Given the description of an element on the screen output the (x, y) to click on. 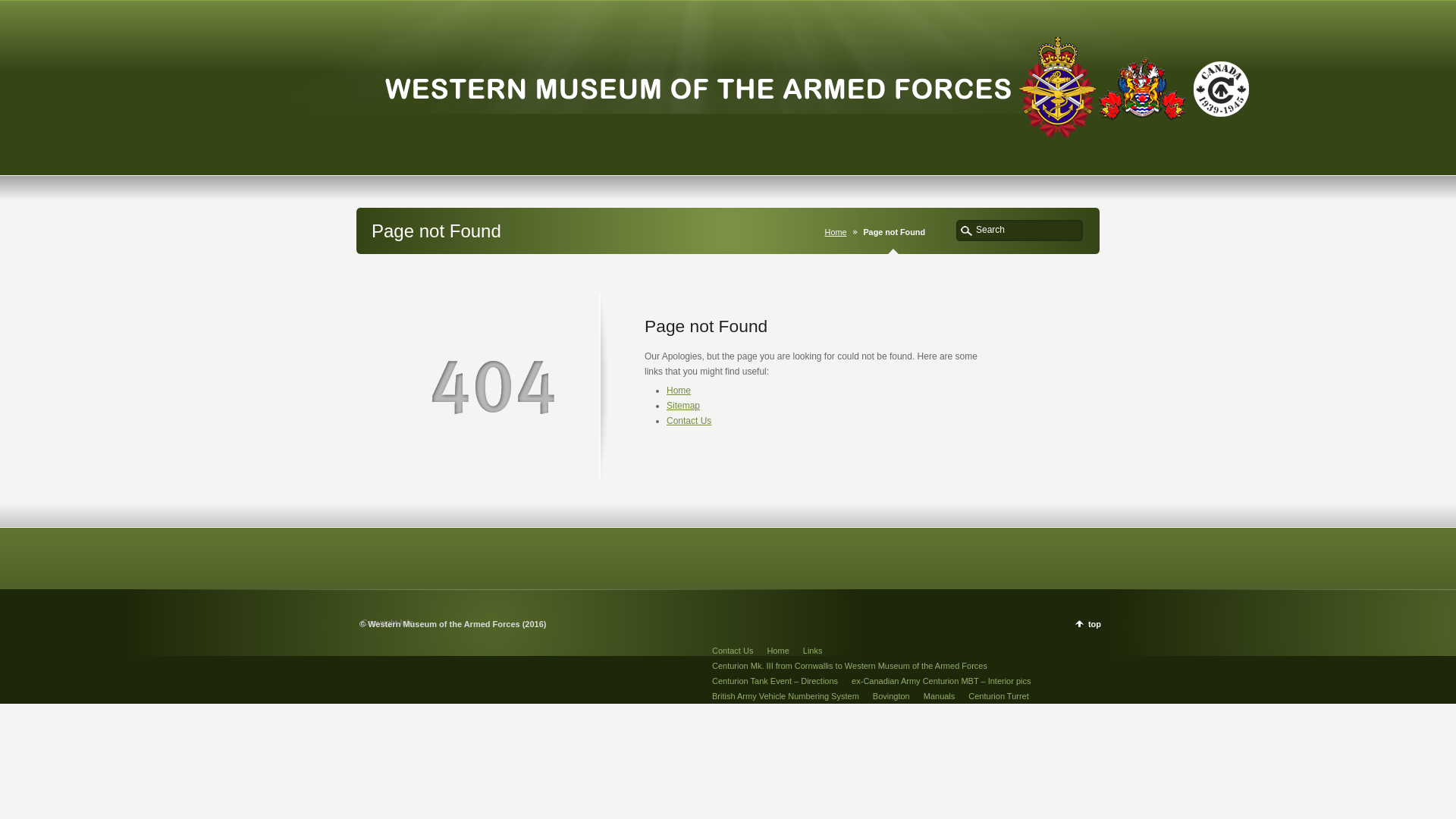
Bovington Element type: text (891, 695)
Contact Us Element type: text (688, 420)
top Element type: text (1088, 622)
Home Element type: text (777, 650)
Home Element type: text (838, 231)
Centurion Turret Element type: text (998, 695)
search Element type: text (966, 229)
Home Element type: text (678, 390)
British Army Vehicle Numbering System Element type: text (785, 695)
Manuals Element type: text (939, 695)
Contact Us Element type: text (732, 650)
Links Element type: text (812, 650)
Sitemap Element type: text (682, 405)
